Given the description of an element on the screen output the (x, y) to click on. 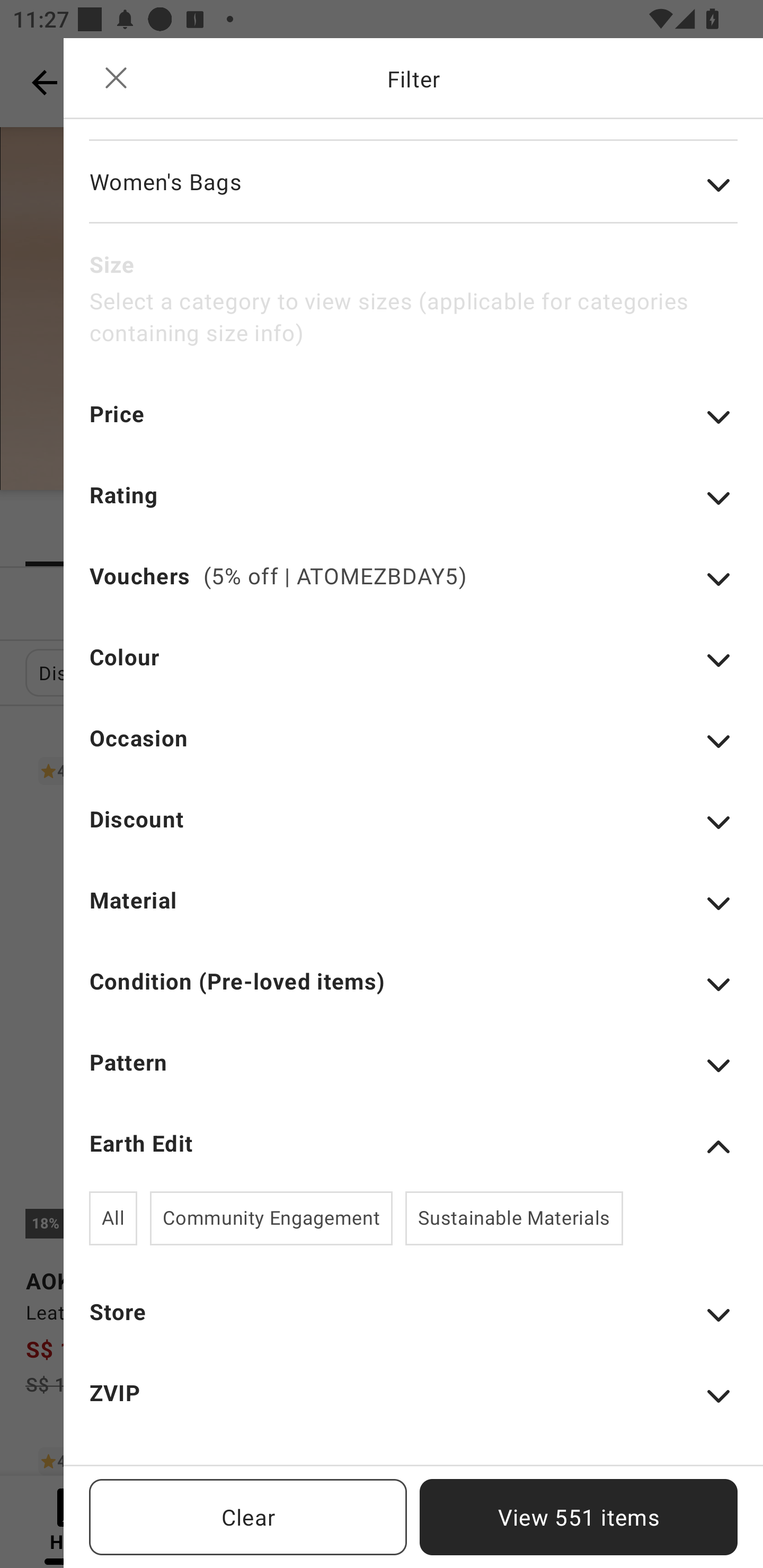
Women's Bags (413, 195)
Price (413, 426)
Rating (413, 506)
Vouchers (5% off | ATOMEZBDAY5) (413, 587)
Colour (413, 669)
Occasion (413, 749)
Discount (413, 830)
Material (413, 912)
Condition (Pre-loved items) (413, 992)
Pattern (413, 1074)
Earth Edit (413, 1146)
All (113, 1217)
Community Engagement (271, 1217)
Sustainable Materials (514, 1217)
Store (413, 1323)
ZVIP (413, 1404)
Clear (247, 1516)
View 551 items (578, 1516)
